Given the description of an element on the screen output the (x, y) to click on. 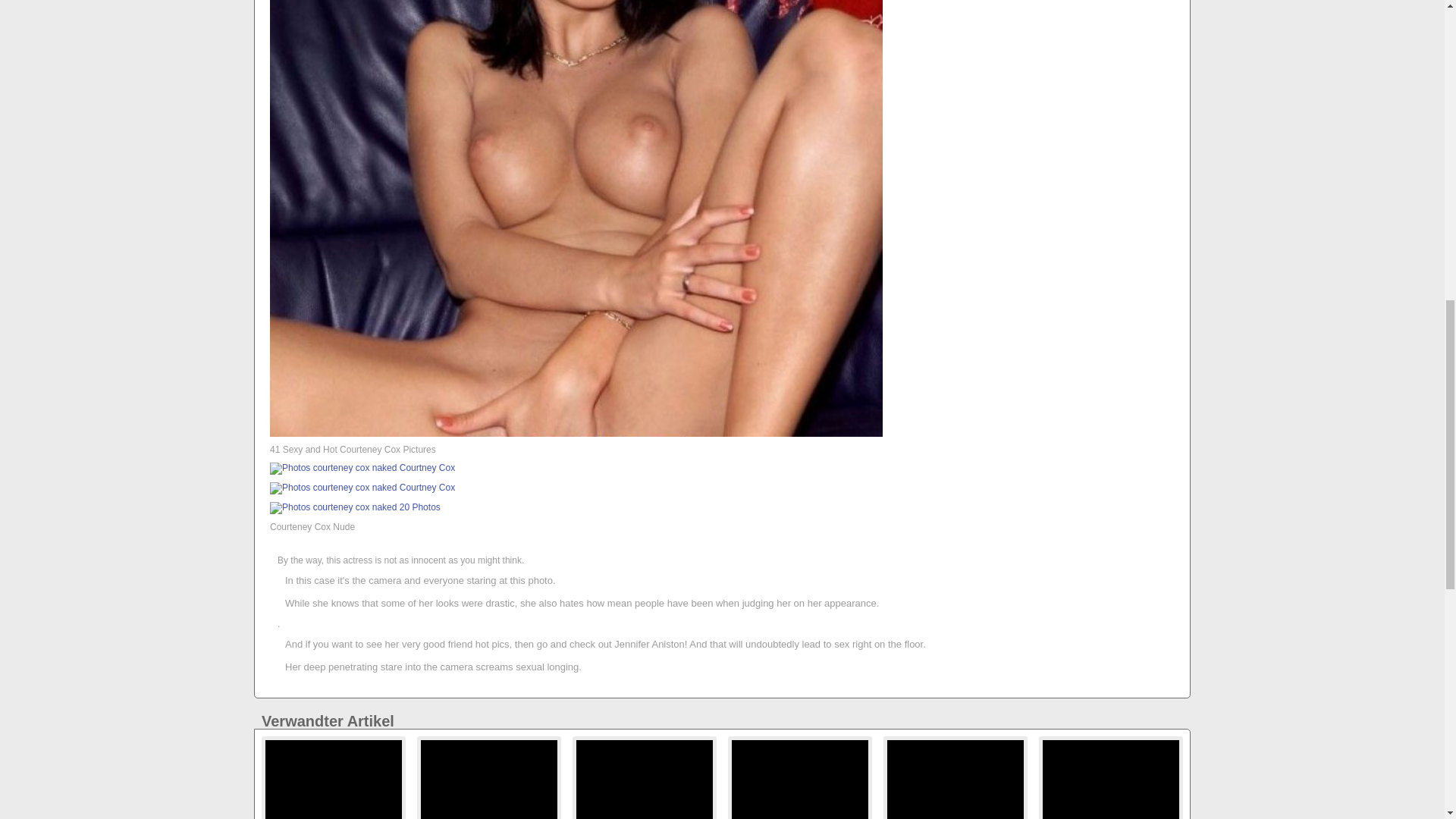
Maria moore clips (332, 779)
Photos courteney cox naked Courteney Cox (799, 779)
Michelle argyris nude (488, 779)
Jessica pare tits (332, 779)
Photos courteney cox naked Jennifer Aniston, (361, 488)
Sabine jemeljanova naked (488, 779)
Photos courteney cox naked 20 Photos (644, 779)
Sophia body tumblr (954, 779)
Mary louise parker nude in weeds (799, 779)
